Given the description of an element on the screen output the (x, y) to click on. 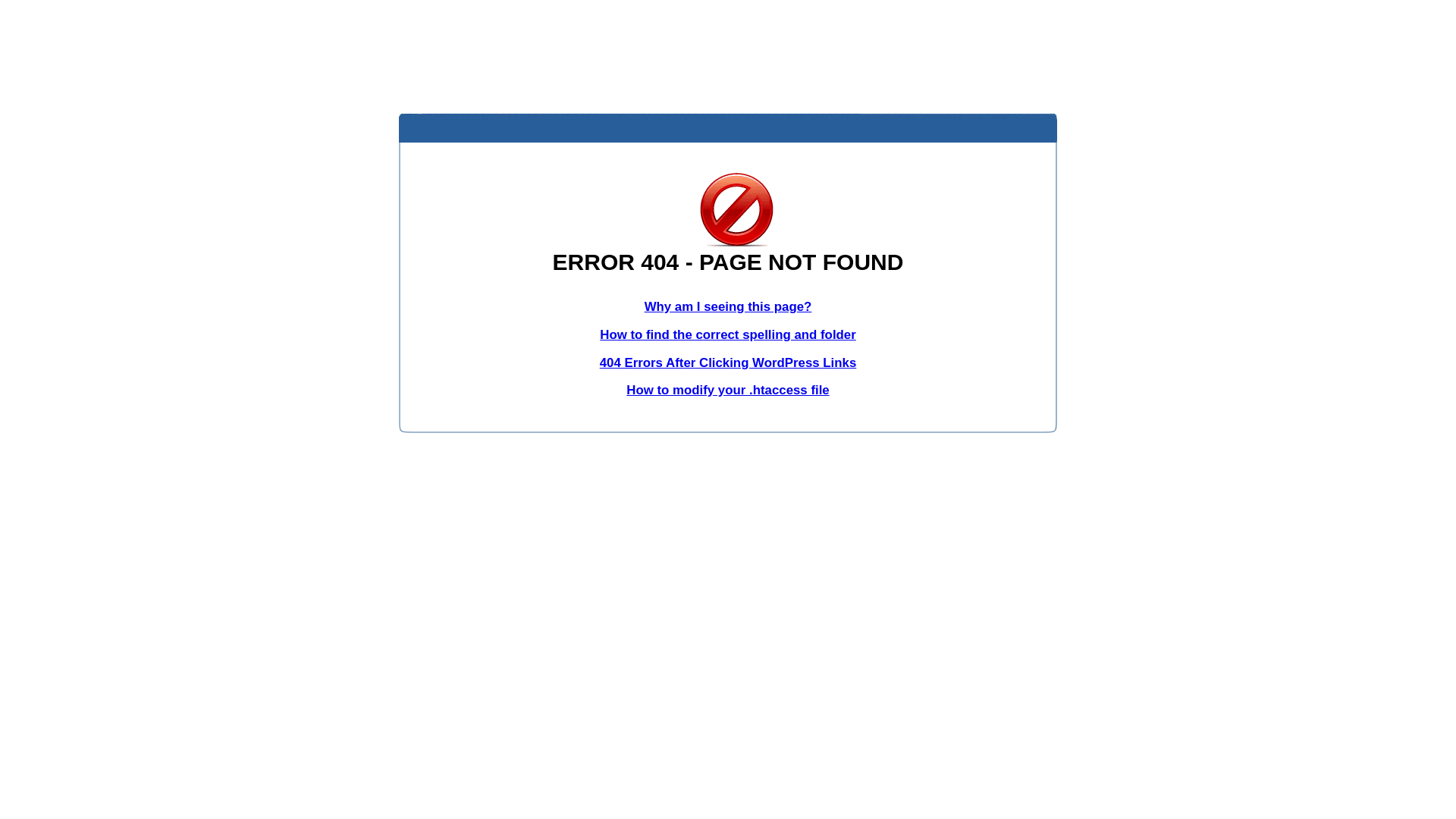
How to modify your .htaccess file Element type: text (727, 389)
How to find the correct spelling and folder Element type: text (727, 334)
404 Errors After Clicking WordPress Links Element type: text (727, 362)
Why am I seeing this page? Element type: text (728, 306)
